Given the description of an element on the screen output the (x, y) to click on. 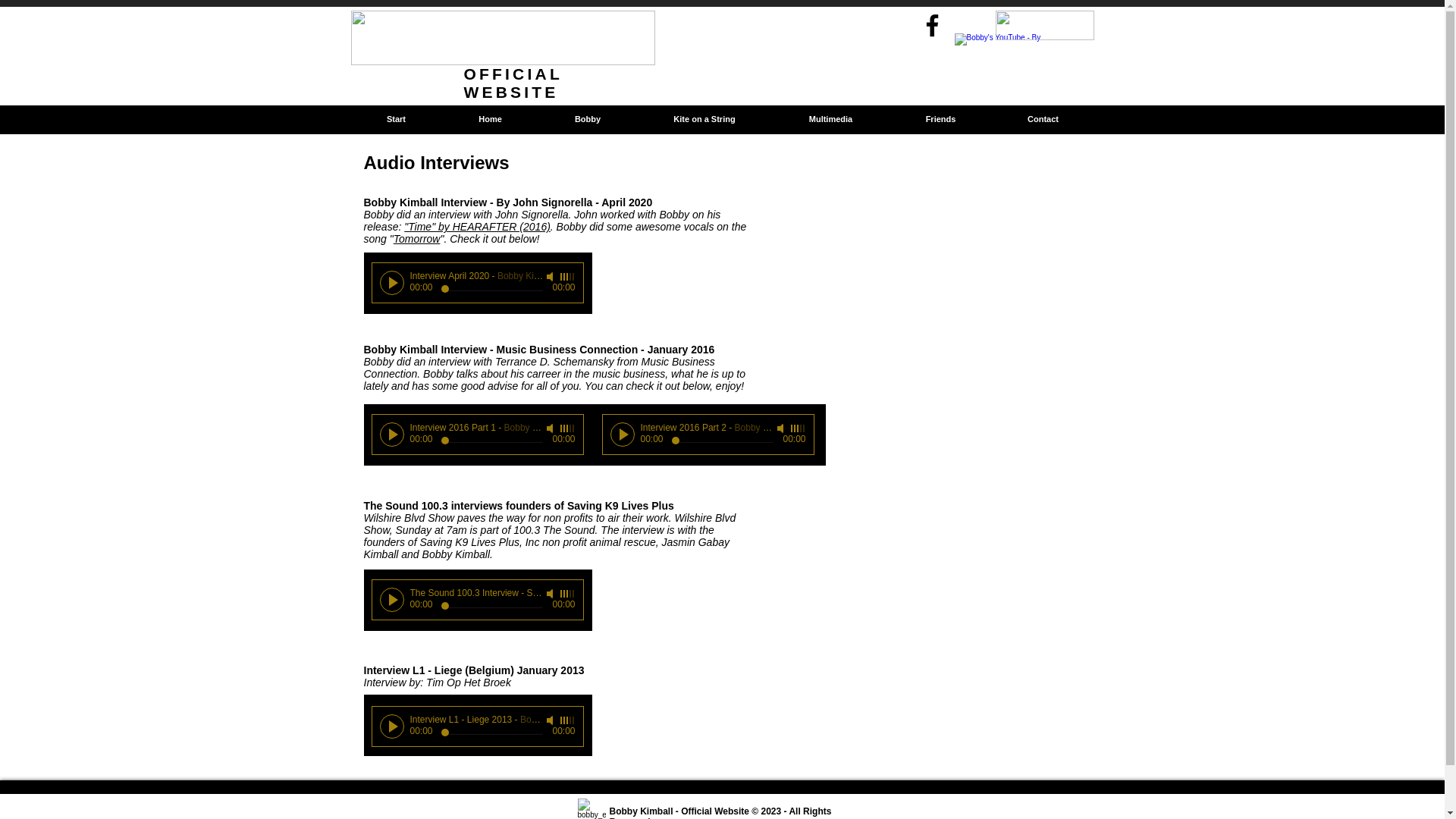
Start (395, 119)
Back to Interviews (1037, 119)
Contact (1042, 119)
0 (492, 289)
0 (492, 440)
KiteonaString logo black.png (1043, 25)
0 (492, 606)
0 (492, 732)
0 (722, 440)
Home (489, 119)
Multimedia (830, 119)
Bobby (587, 119)
Tomorrow (417, 238)
bobby.PNG (591, 808)
Friends (939, 119)
